Given the description of an element on the screen output the (x, y) to click on. 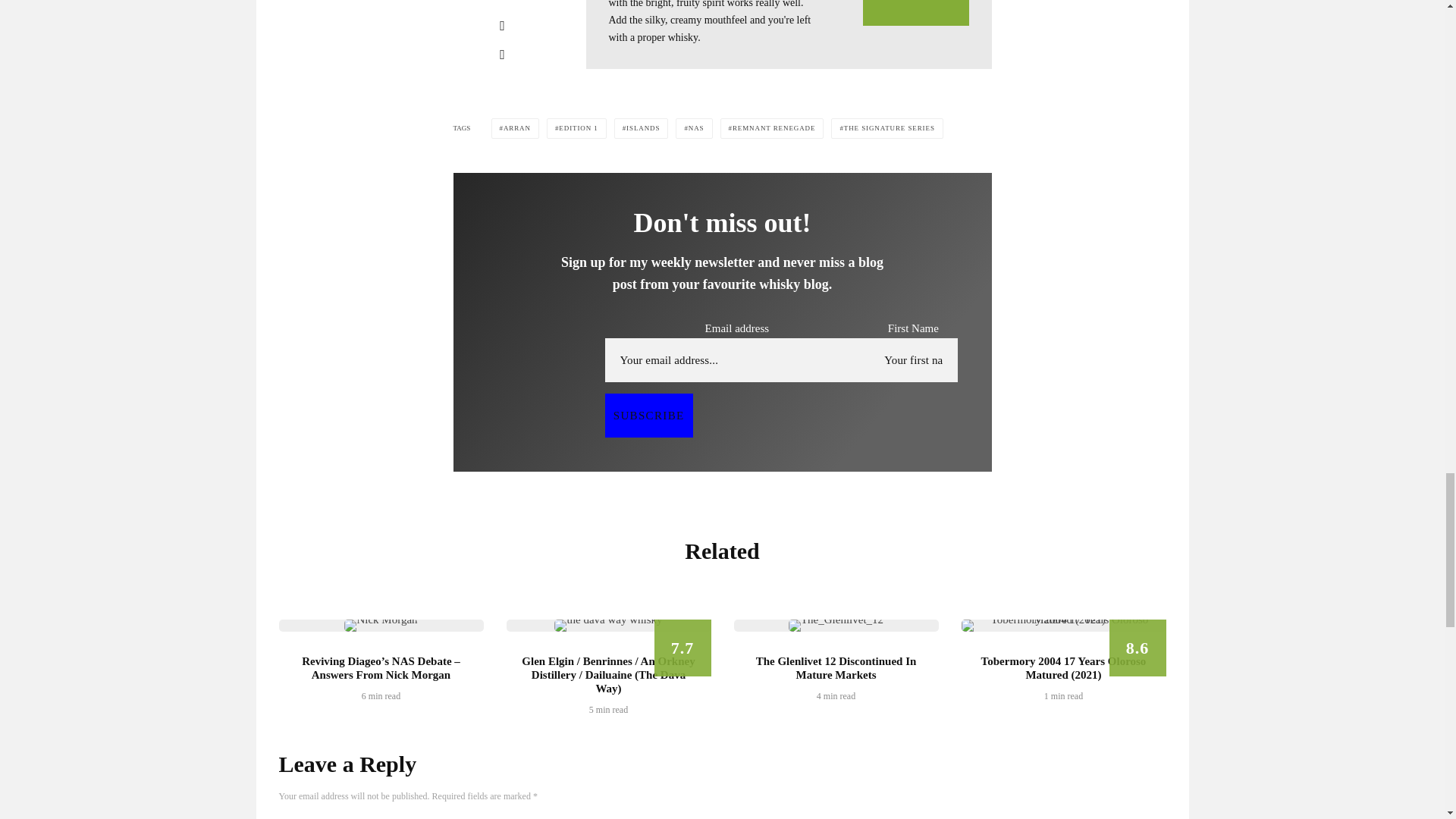
Subscribe (649, 415)
THE SIGNATURE SERIES (886, 127)
ARRAN (515, 127)
Nick Morgan (379, 625)
EDITION 1 (577, 127)
Tobermory 2004 17 Years Oloroso Matured 2021 (1063, 625)
the dava way whisky (608, 625)
ISLANDS (641, 127)
Subscribe (649, 415)
The Glenlivet 12 (836, 625)
REMNANT RENEGADE (772, 127)
NAS (693, 127)
